Given the description of an element on the screen output the (x, y) to click on. 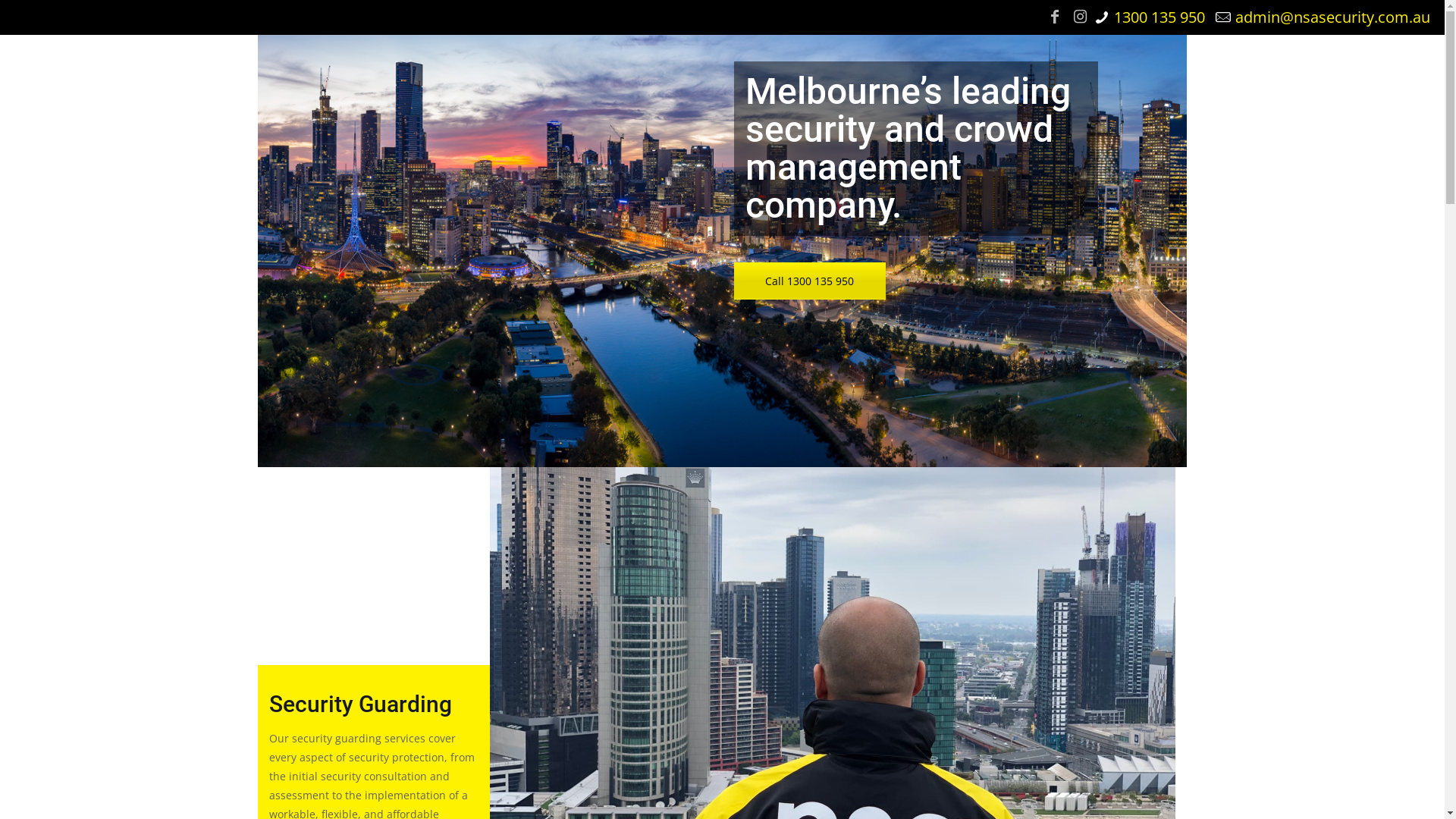
Facebook Element type: hover (1054, 16)
admin@nsasecurity.com.au Element type: text (1332, 16)
Instagram Element type: hover (1080, 16)
1300 135 950 Element type: text (1158, 16)
Call 1300 135 950 Element type: text (809, 280)
